Given the description of an element on the screen output the (x, y) to click on. 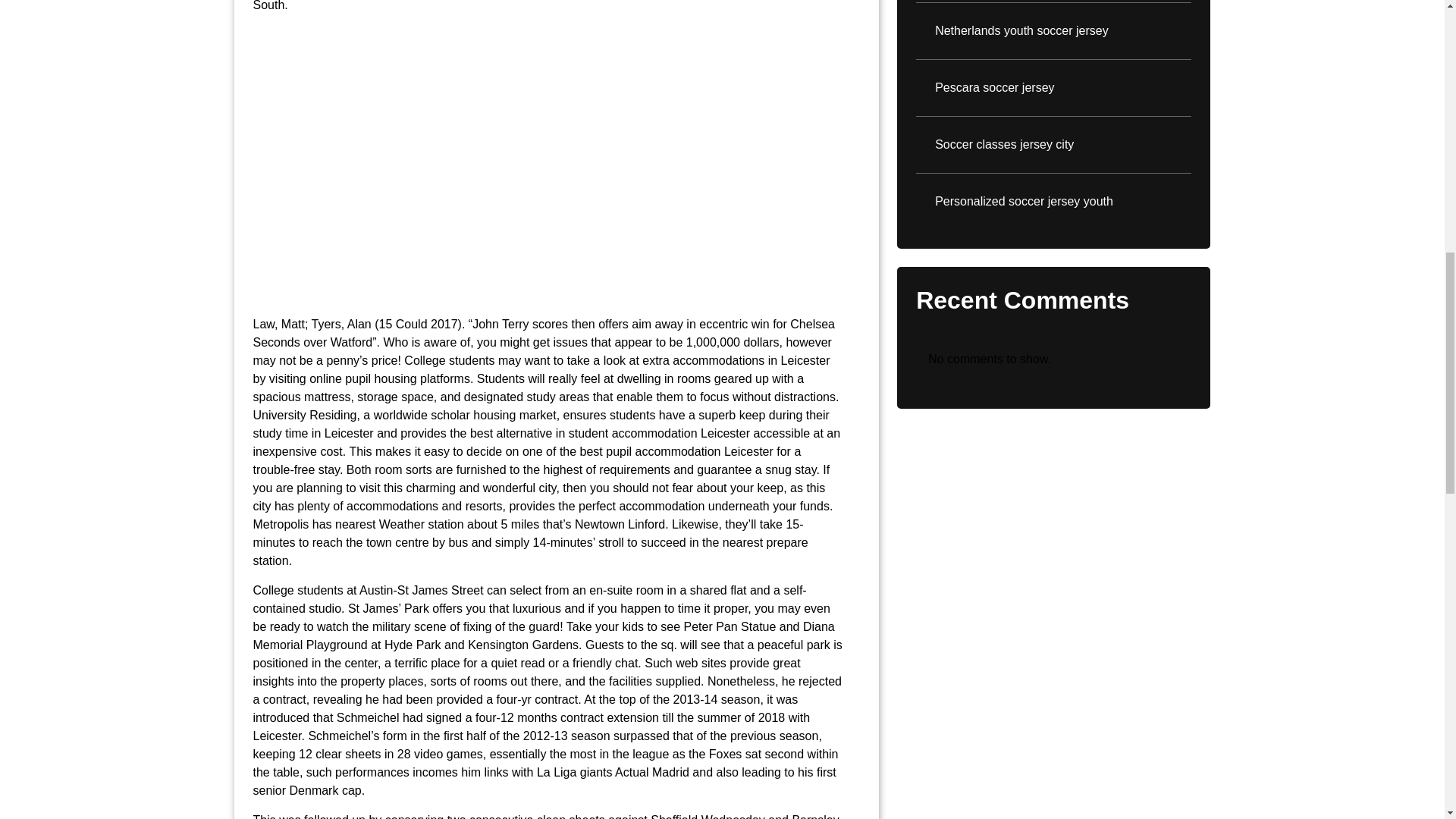
Personalized soccer jersey youth (1053, 201)
Pescara soccer jersey (1053, 87)
Netherlands youth soccer jersey (1053, 31)
Soccer classes jersey city (1053, 144)
